Given the description of an element on the screen output the (x, y) to click on. 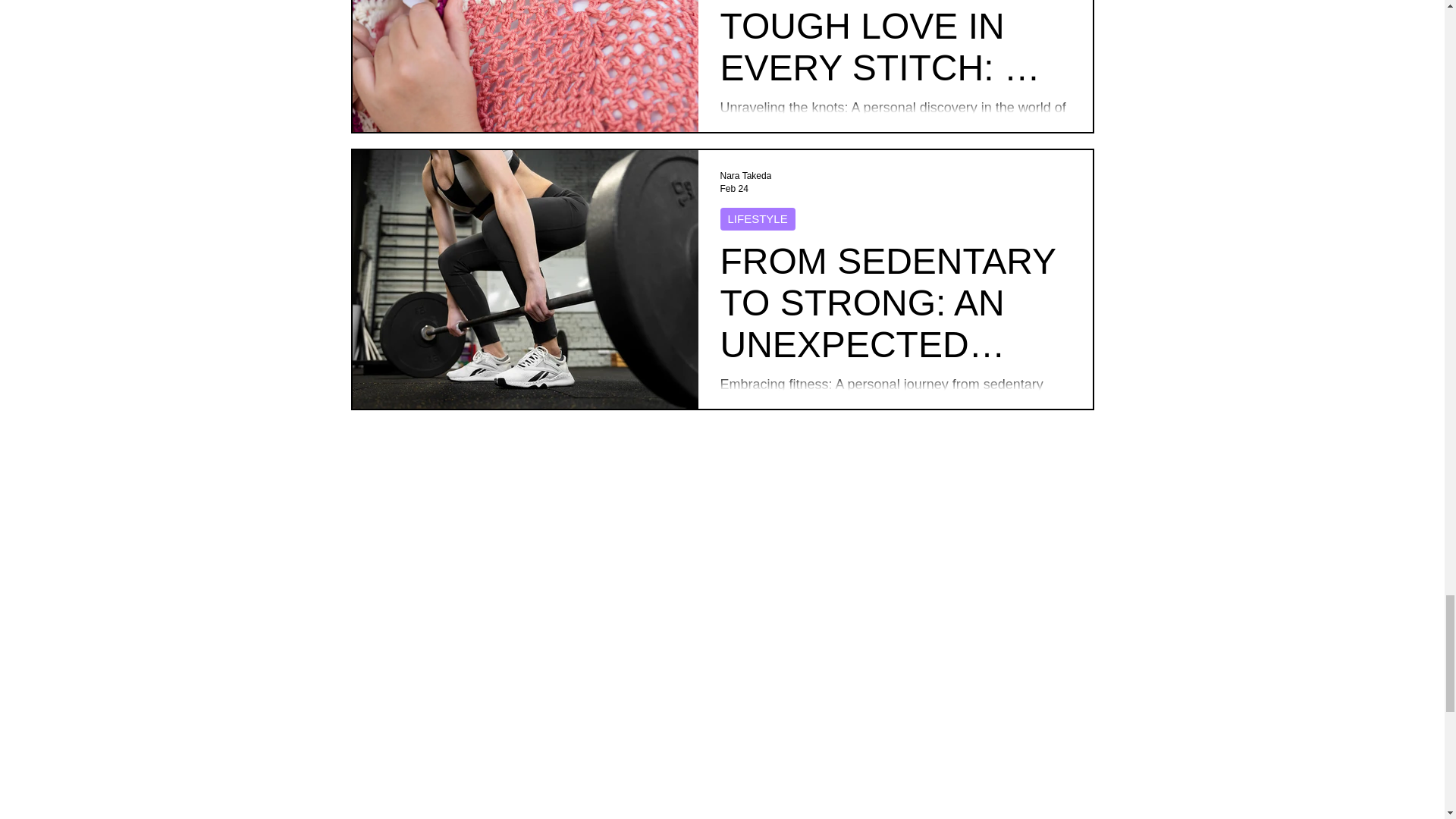
Feb 24 (734, 188)
Nara Takeda (745, 175)
